Given the description of an element on the screen output the (x, y) to click on. 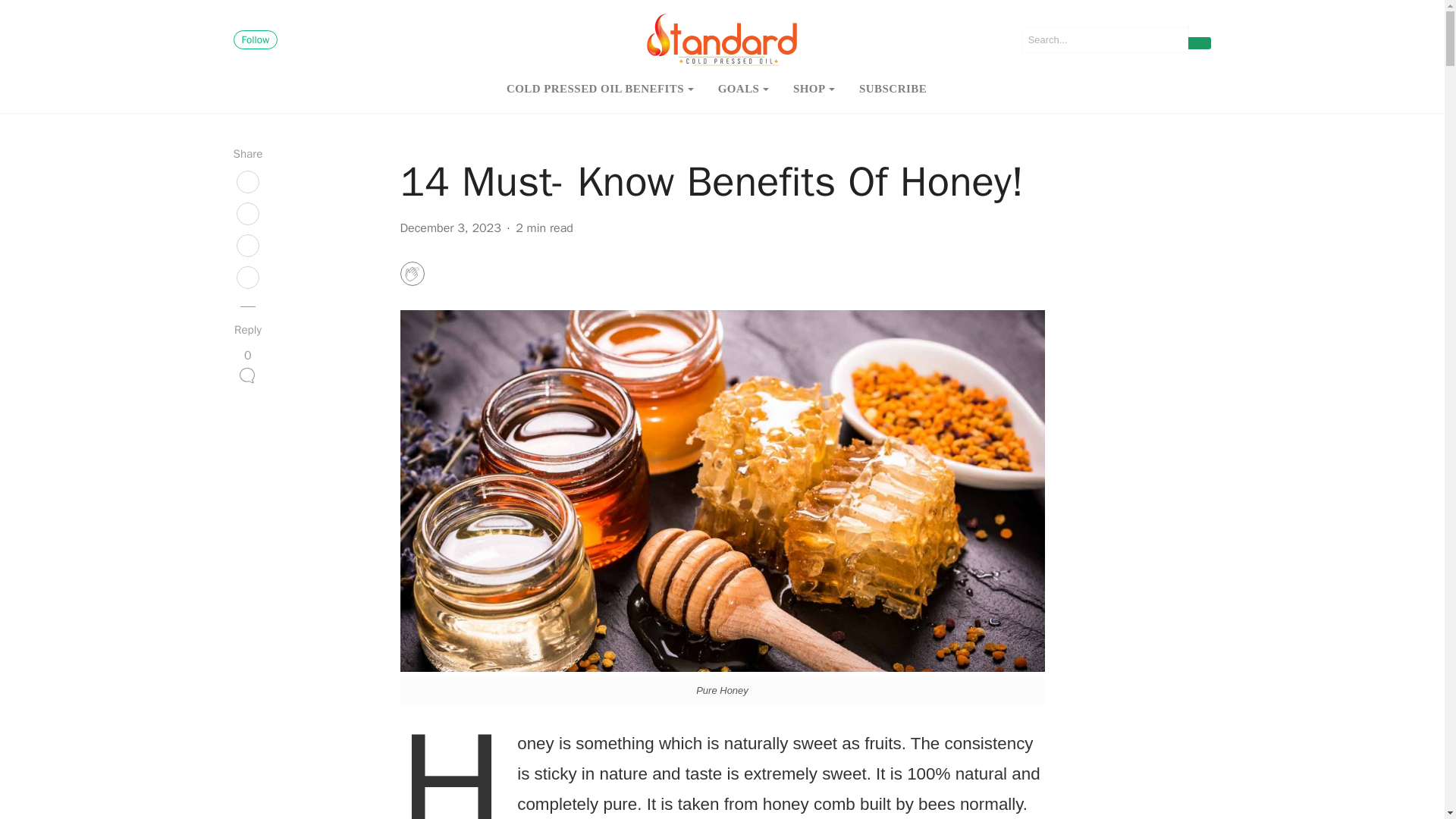
GOALS (743, 88)
Follow (255, 39)
Search for: (1105, 40)
COLD PRESSED OIL BENEFITS (600, 88)
SHOP (813, 88)
SUBSCRIBE (893, 88)
